Given the description of an element on the screen output the (x, y) to click on. 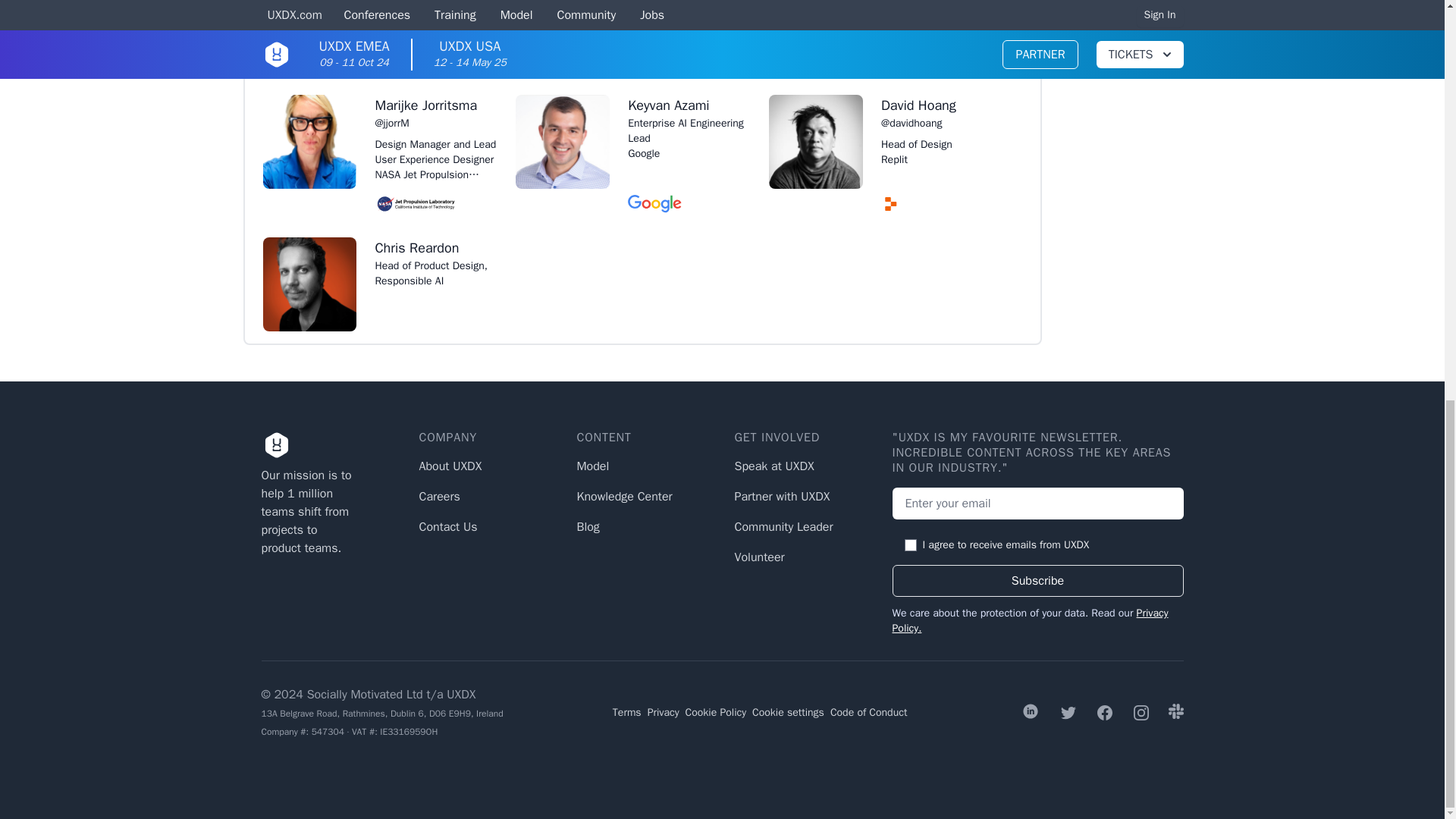
on (909, 544)
David Hoang (942, 105)
Keyvan Azami (689, 105)
Marijke Jorritsma (435, 105)
Chris Reardon (435, 247)
